Given the description of an element on the screen output the (x, y) to click on. 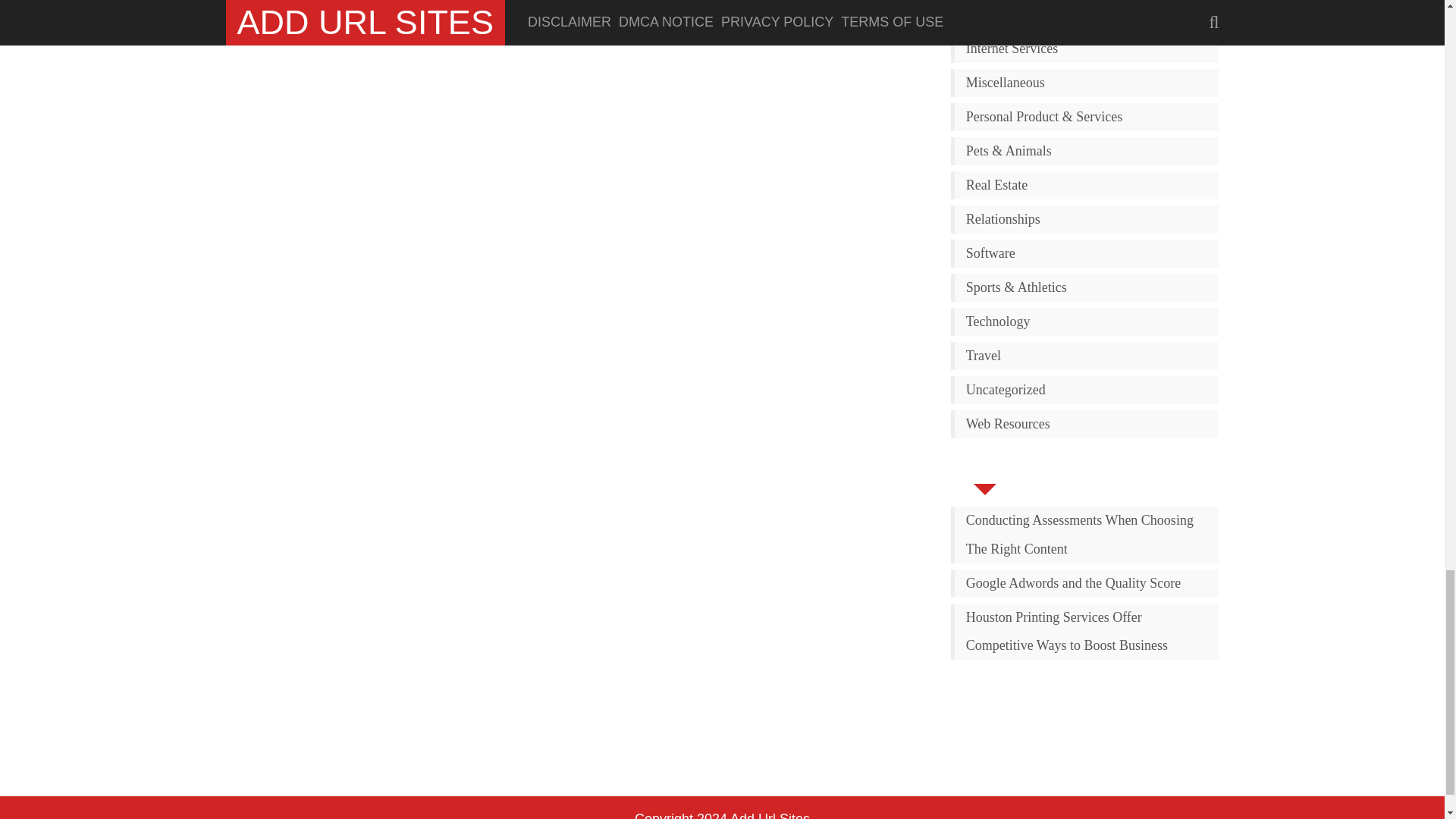
Conducting Assessments When Choosing The Right Content (1087, 534)
Google Adwords and the Quality Score (1087, 583)
